Given the description of an element on the screen output the (x, y) to click on. 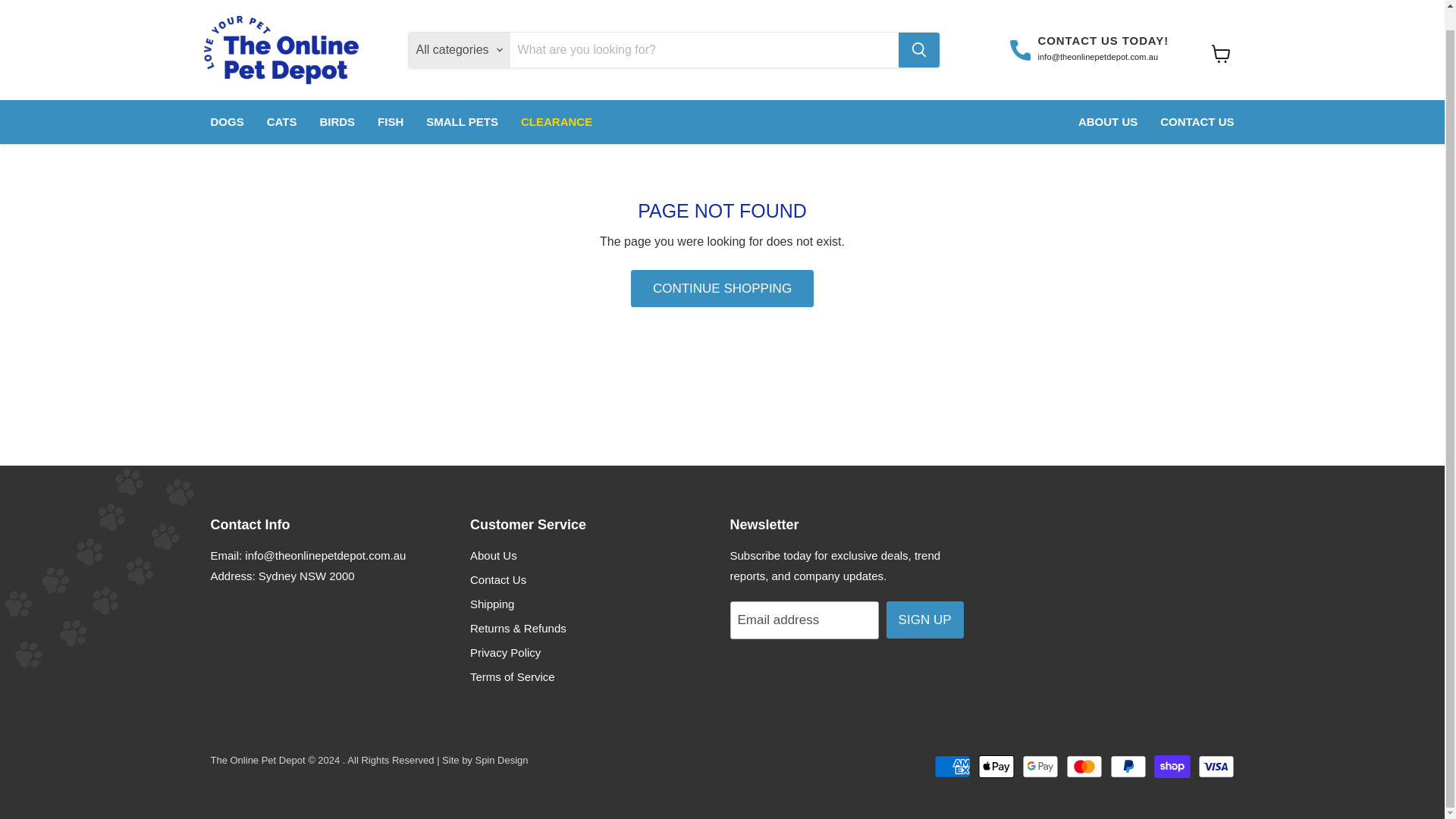
Terms of Service (512, 676)
DOGS (226, 101)
ABOUT US (1107, 101)
Spin Design (500, 759)
Google Pay (1040, 766)
Apple Pay (996, 766)
PayPal (1128, 766)
BIRDS (336, 101)
Contact Us (497, 579)
CATS (282, 101)
